Given the description of an element on the screen output the (x, y) to click on. 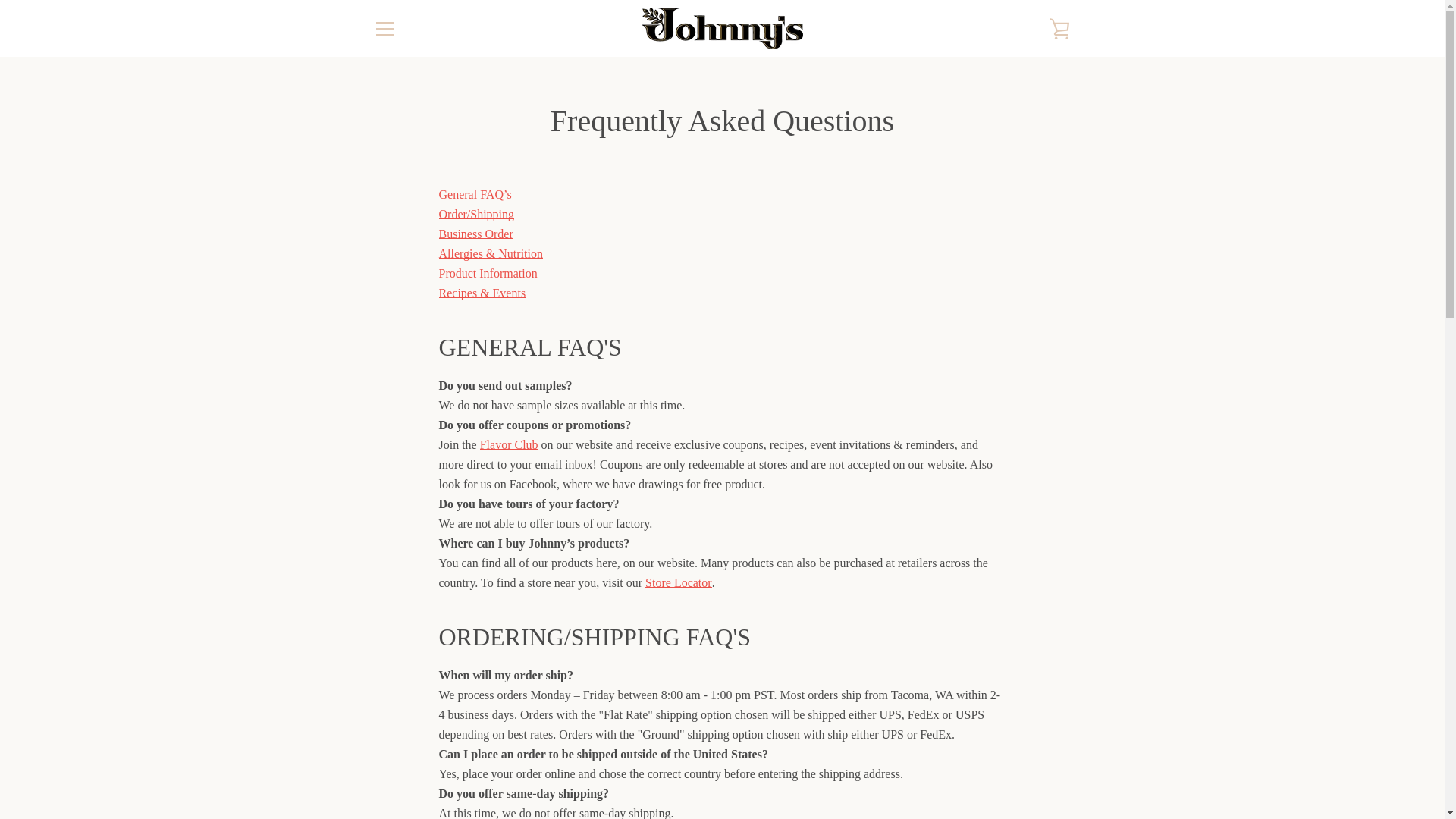
Store Locator (678, 582)
Johnny's Fine Foods on YouTube (475, 765)
Google Pay (1057, 755)
Johnny's Fine Foods on Instagram (450, 765)
Discover (988, 755)
Shop Pay (1022, 778)
Johnny's Fine Foods on Facebook (372, 765)
Diners Club (953, 755)
Visa (1057, 778)
